Given the description of an element on the screen output the (x, y) to click on. 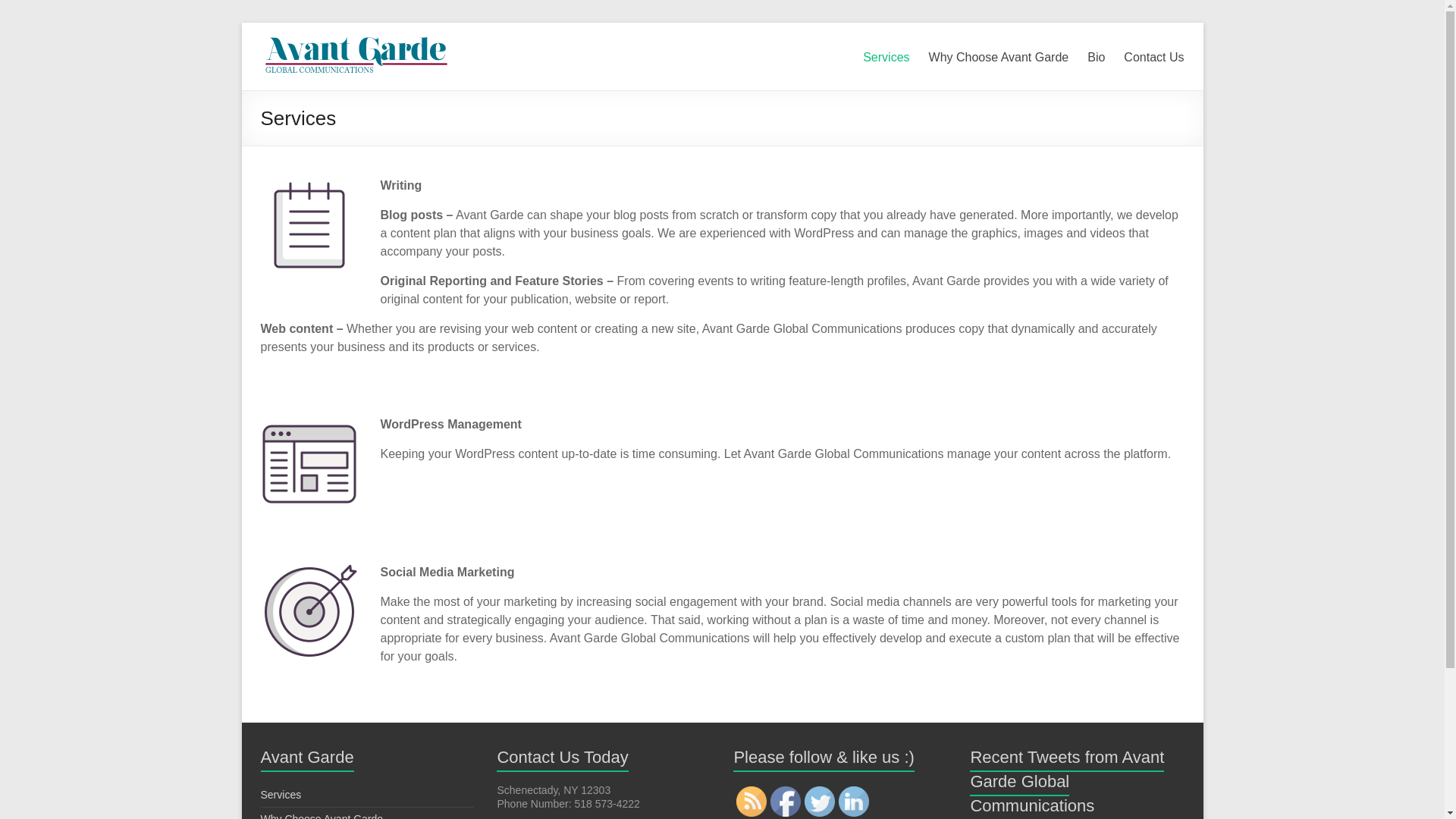
Contact Us (1153, 54)
RSS (751, 801)
Services (885, 54)
Services (280, 794)
Avant Garde (354, 41)
Why Choose Avant Garde (998, 54)
Facebook (785, 801)
Why Choose Avant Garde (322, 816)
LinkedIn (853, 801)
Twitter (819, 801)
